Given the description of an element on the screen output the (x, y) to click on. 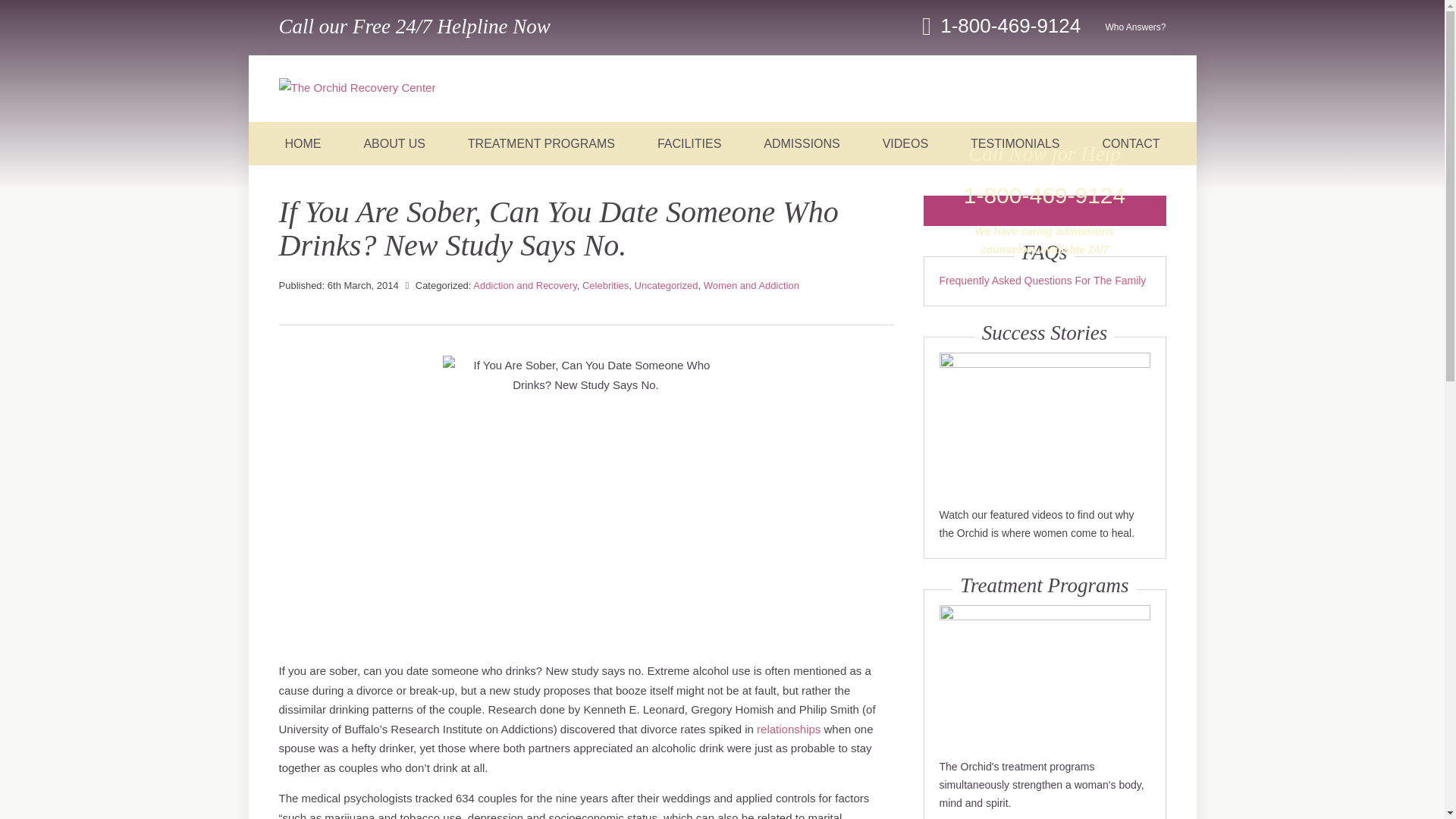
Home (357, 87)
FACILITIES (689, 143)
1-800-469-9124 (1013, 25)
ABOUT US (393, 143)
TREATMENT PROGRAMS (540, 143)
Uncategorized (666, 285)
ADMISSIONS (801, 143)
TESTIMONIALS (1015, 143)
Addiction and Recovery (524, 285)
CONTACT (1130, 143)
